Given the description of an element on the screen output the (x, y) to click on. 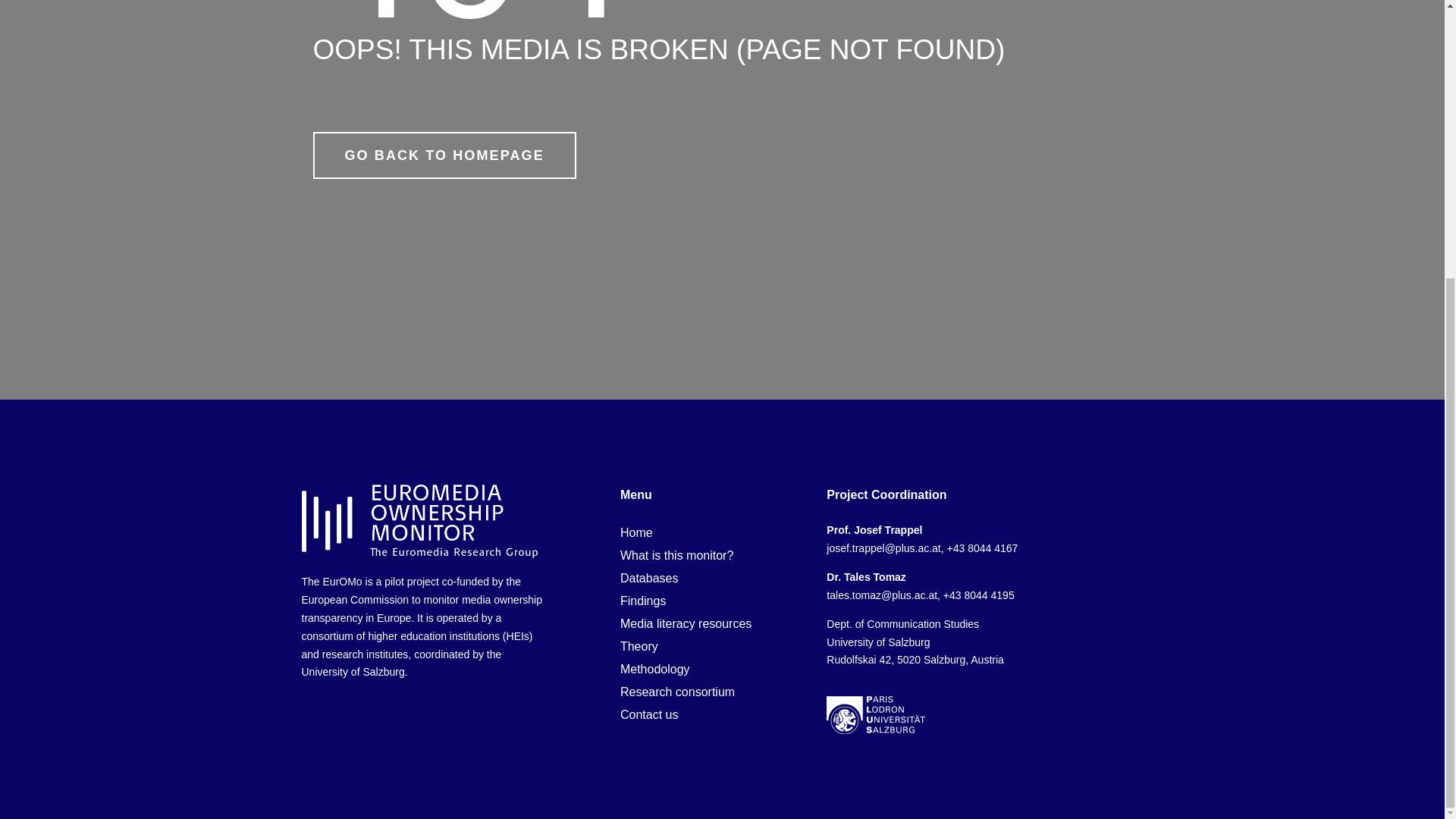
Theory (711, 646)
Databases (711, 578)
Media literacy resources (711, 623)
What is this monitor? (711, 555)
GO BACK TO HOMEPAGE (444, 154)
PLUS Logo RGB weiss (875, 714)
Home (711, 532)
Findings (711, 600)
